Given the description of an element on the screen output the (x, y) to click on. 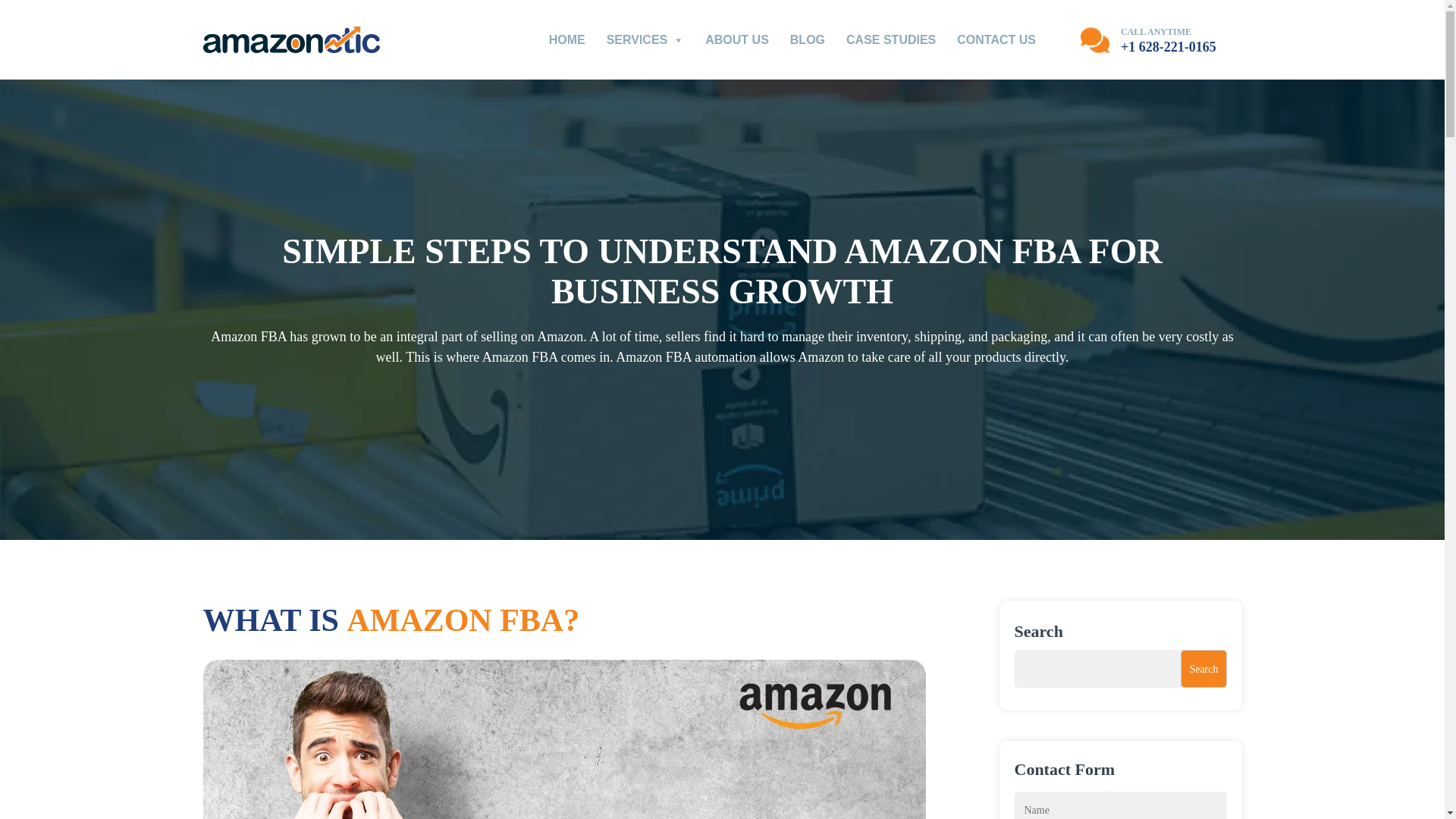
how-to-creat-amazon-fba-account-easily (564, 739)
Search (1202, 668)
BLOG (807, 39)
CONTACT US (996, 39)
SERVICES (645, 39)
HOME (566, 39)
CASE STUDIES (890, 39)
ABOUT US (736, 39)
